Given the description of an element on the screen output the (x, y) to click on. 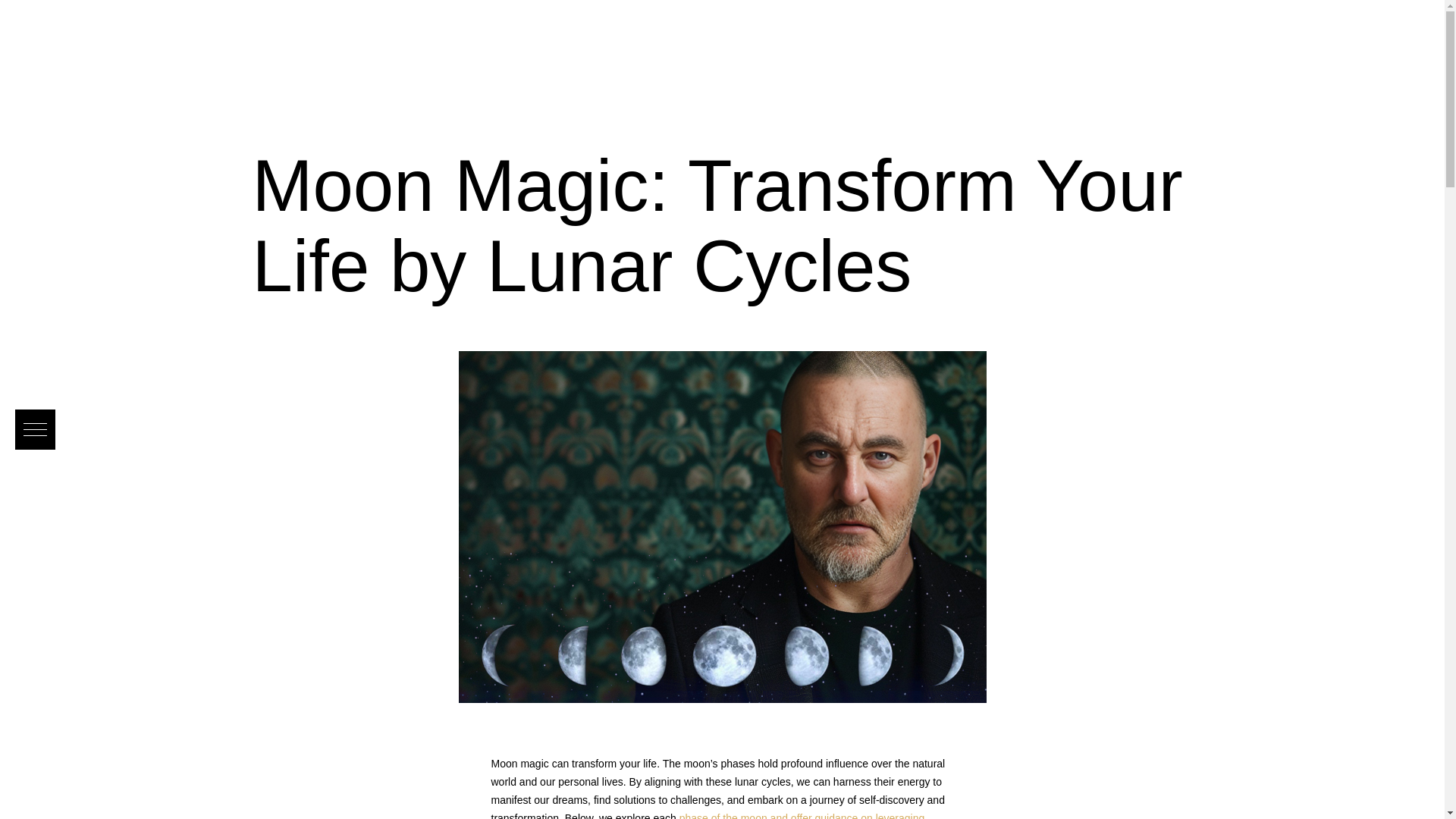
Search (45, 15)
